Given the description of an element on the screen output the (x, y) to click on. 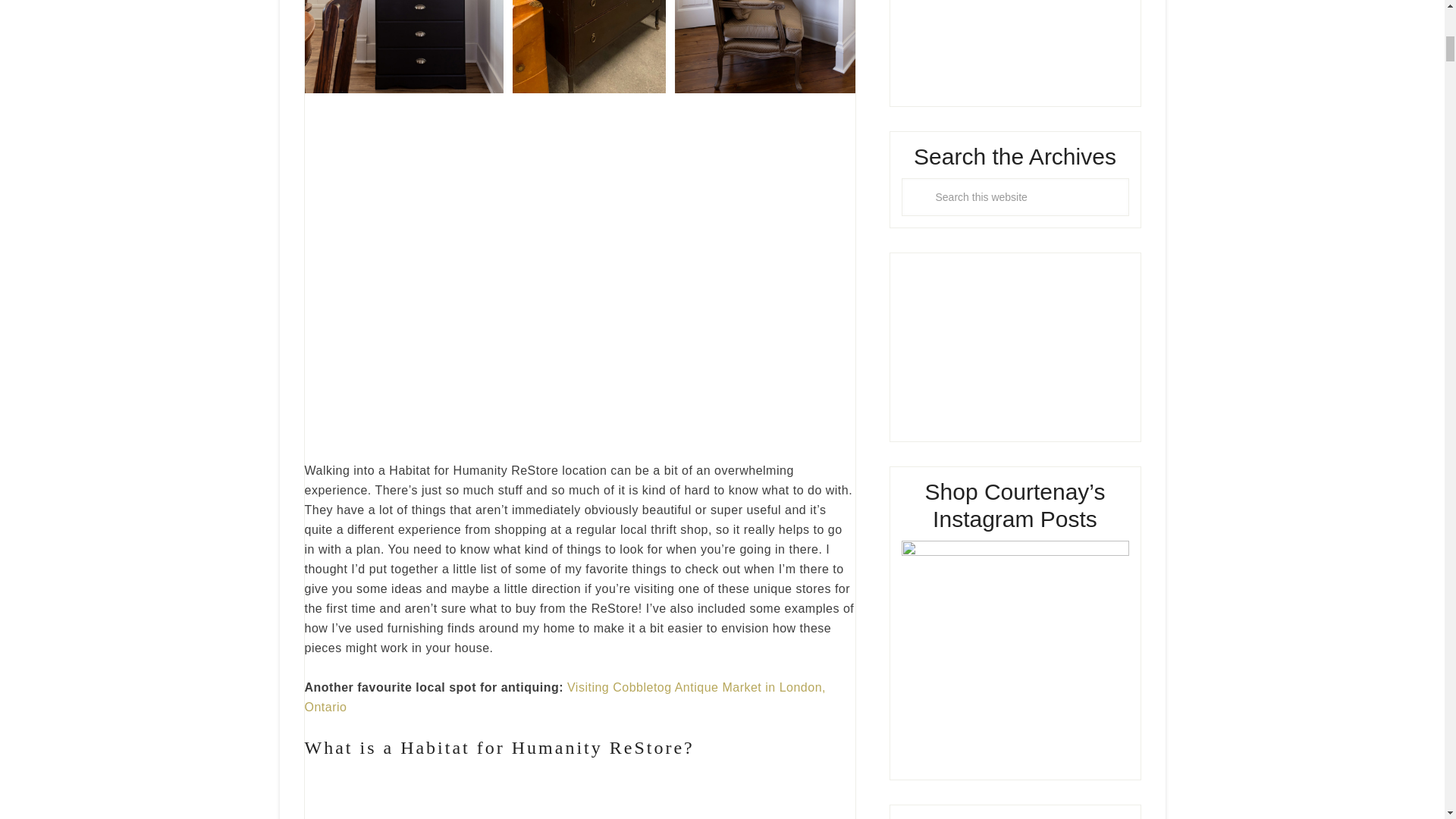
Visiting Cobbletog Antique Market in London, Ontario (564, 696)
